Given the description of an element on the screen output the (x, y) to click on. 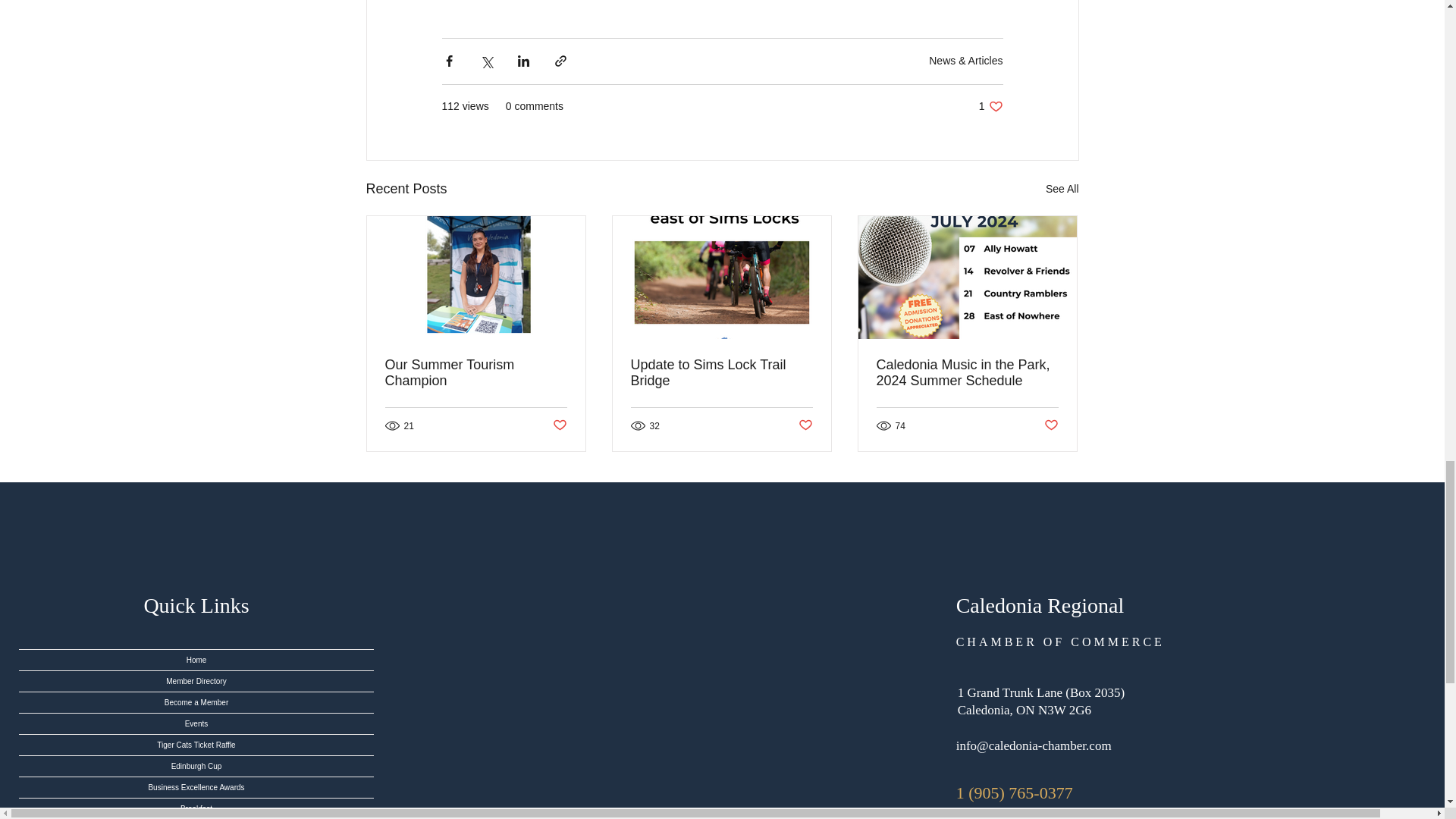
See All (1061, 188)
Home (196, 660)
Events (196, 723)
Our Summer Tourism Champion (476, 373)
Member Directory (196, 680)
Caledonia Music in the Park, 2024 Summer Schedule (967, 373)
Tiger Cats Ticket Raffle (196, 744)
Post not marked as liked (558, 425)
Post not marked as liked (804, 425)
Become a Member (196, 702)
